Given the description of an element on the screen output the (x, y) to click on. 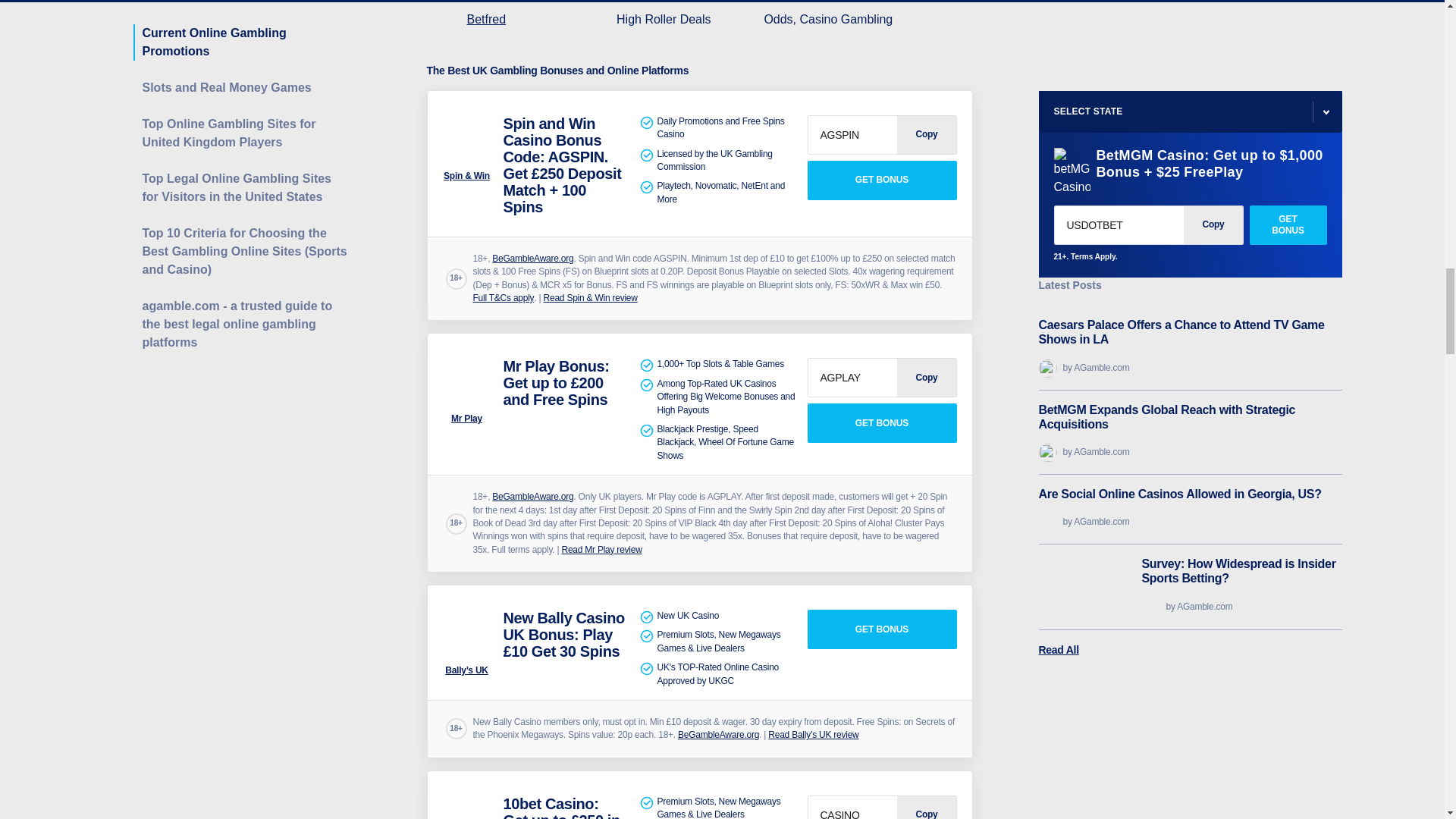
Spin-and-win casino UK - aGamble.com (467, 139)
